Given the description of an element on the screen output the (x, y) to click on. 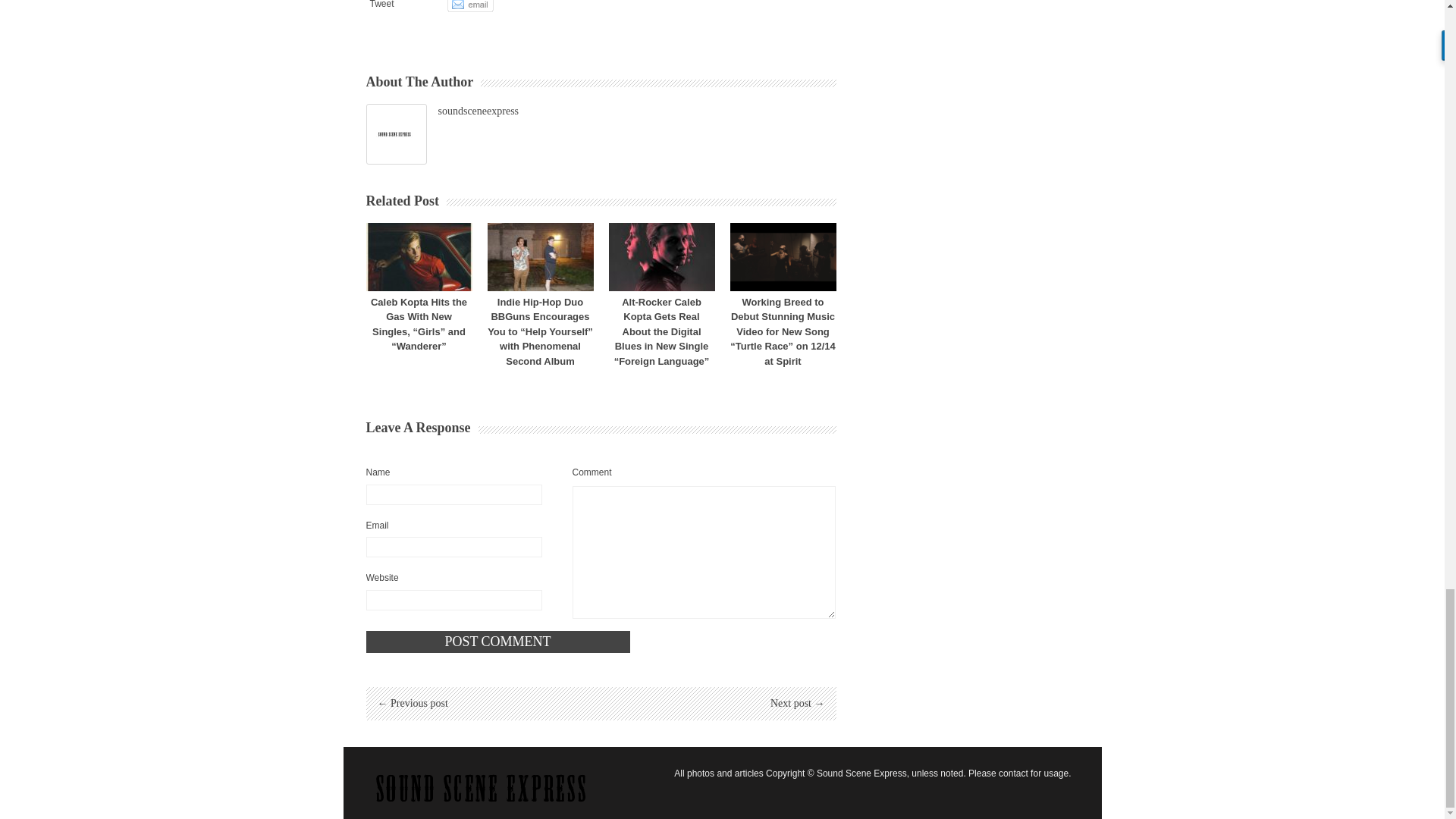
soundsceneexpress (478, 111)
Posts by soundsceneexpress (478, 111)
Tweet (381, 4)
Post Comment (496, 641)
